Given the description of an element on the screen output the (x, y) to click on. 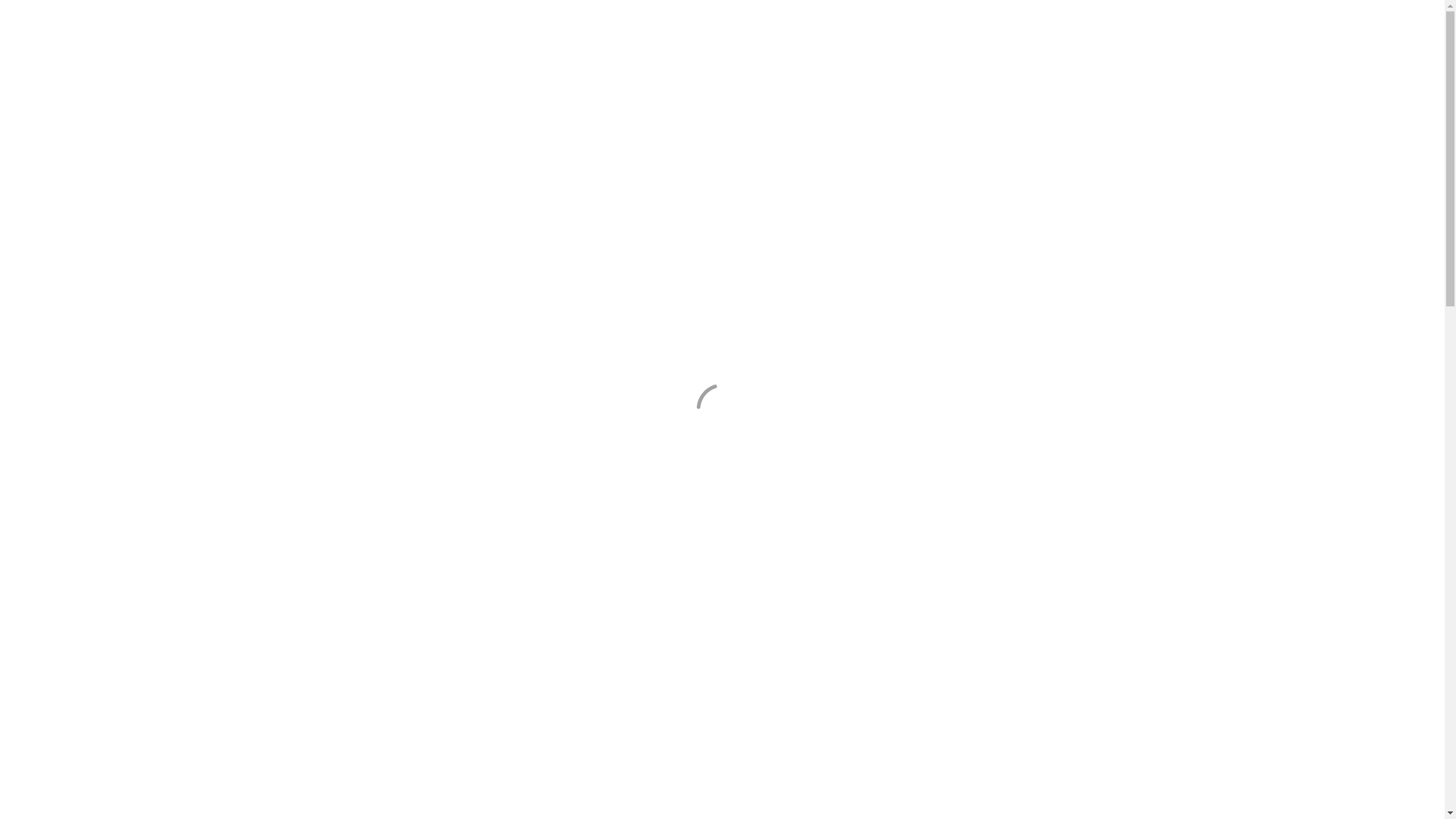
News Element type: text (1022, 81)
Online Element type: text (642, 81)
Info Element type: text (1070, 81)
